Given the description of an element on the screen output the (x, y) to click on. 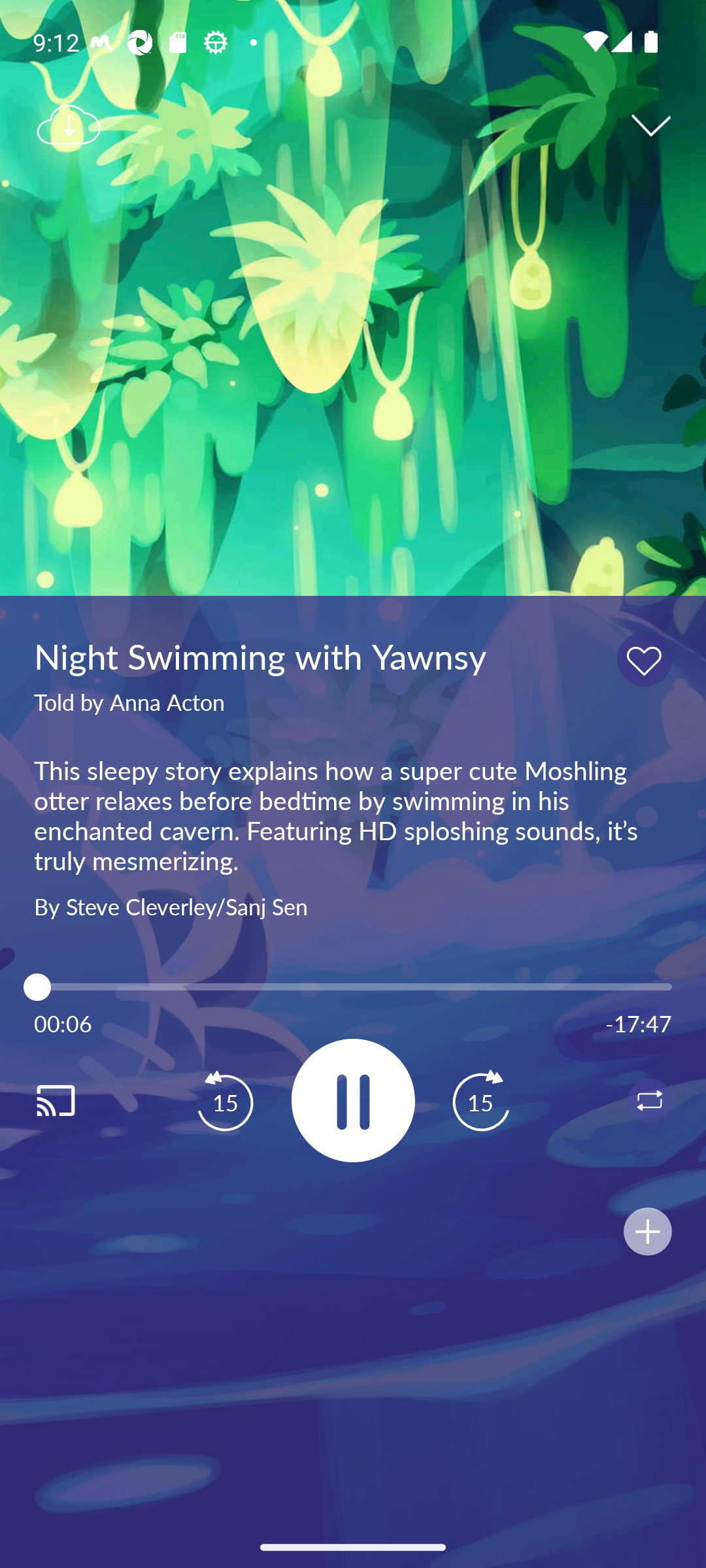
6.0 (352, 986)
Cast. Disconnected (76, 1100)
